Given the description of an element on the screen output the (x, y) to click on. 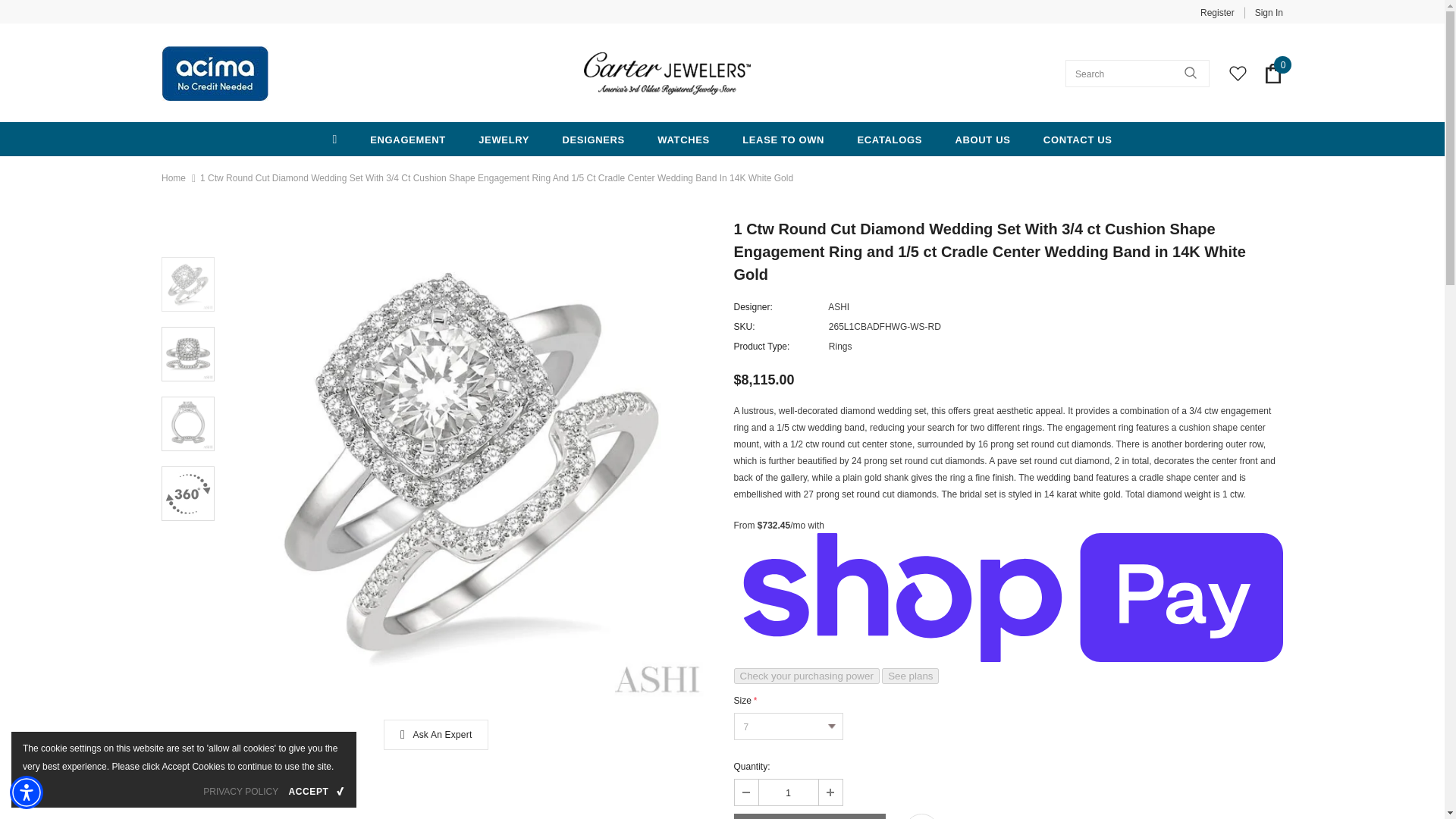
1 (787, 792)
Add to Bag (809, 816)
Accessibility Menu (26, 792)
Register (1216, 12)
Sign In (1263, 12)
